Given the description of an element on the screen output the (x, y) to click on. 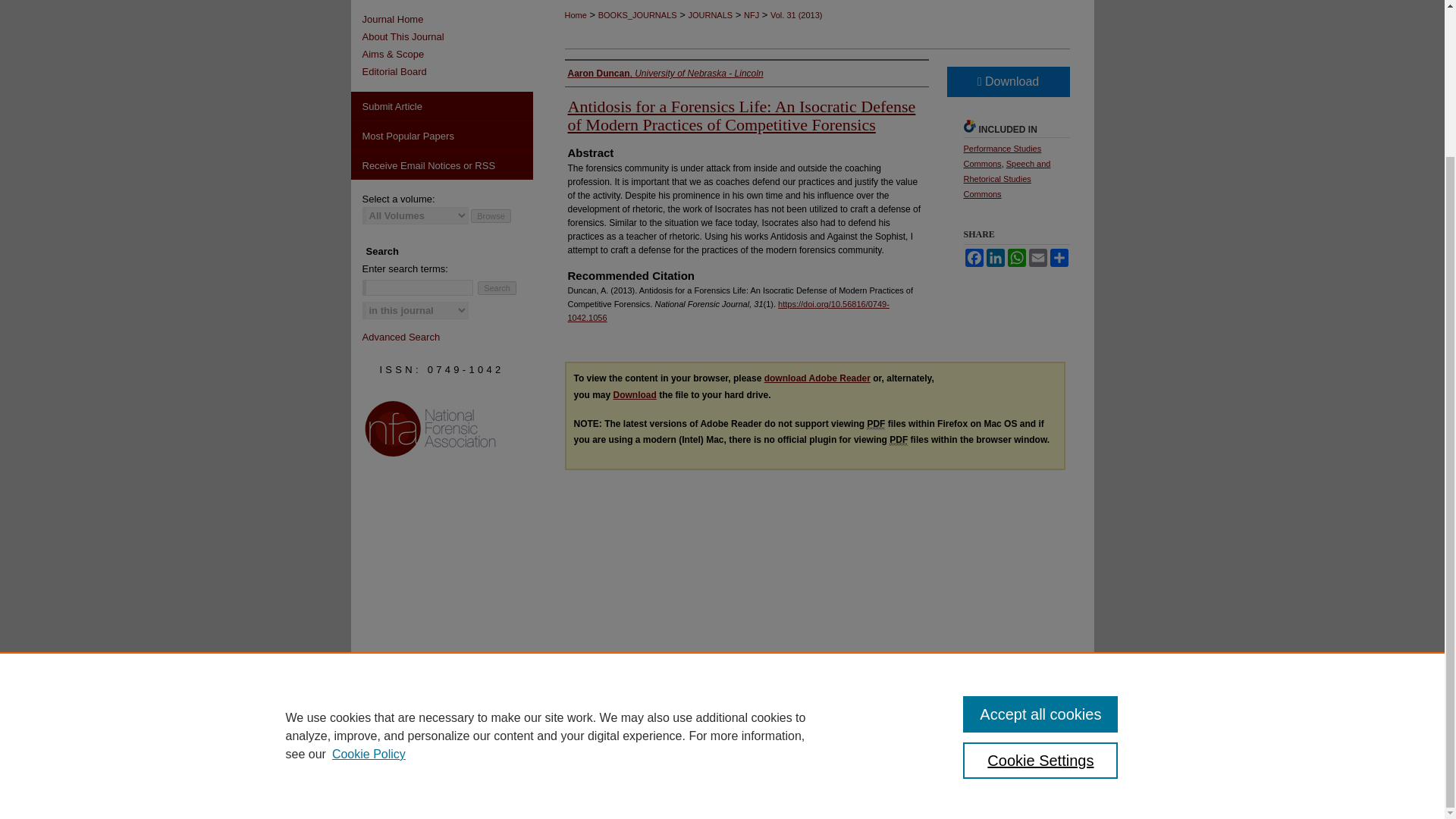
Editorial Board (447, 71)
Performance Studies Commons (1001, 156)
Download (634, 394)
Portable Document Format (898, 439)
Aaron Duncan, University of Nebraska - Lincoln (664, 73)
Speech and Rhetorical Studies Commons (1005, 178)
Download (1007, 81)
Portable Document Format (875, 423)
Facebook (973, 257)
Share (1058, 257)
JOURNALS (709, 14)
download Adobe Reader (817, 378)
Browse (490, 214)
Search (496, 287)
Home (575, 14)
